Given the description of an element on the screen output the (x, y) to click on. 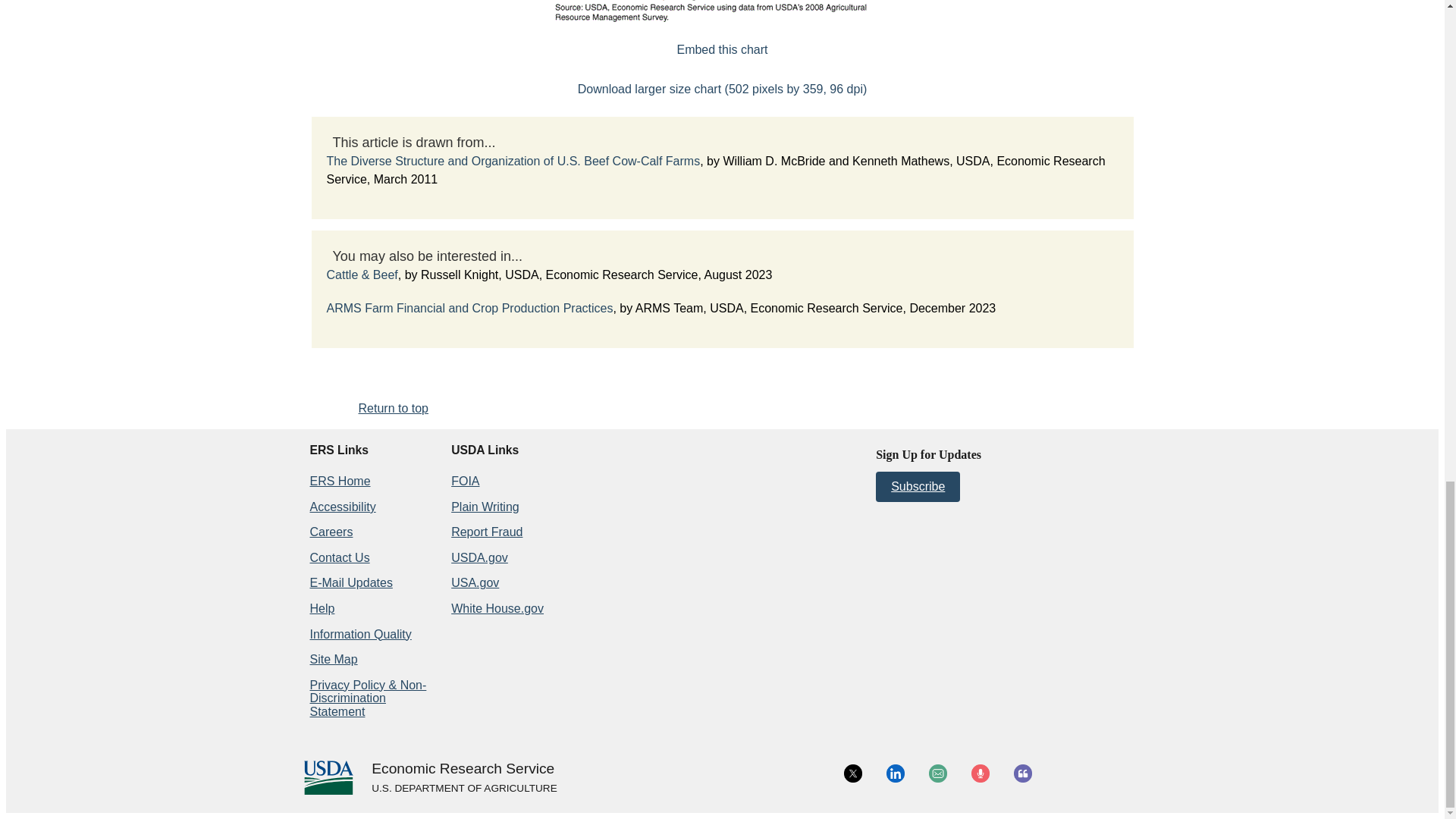
Help (321, 608)
Email Icon (937, 773)
Careers (330, 531)
Accessibility (341, 506)
Home (462, 768)
Contact Us (338, 557)
Multimedia Icon (979, 773)
ERS Home (338, 481)
ARMS Farm Financial and Crop Production Practices (469, 308)
USDA.gov (463, 788)
LinkedIn icon (894, 773)
Blog Icon (1021, 773)
E-Mail Updates (349, 582)
